Given the description of an element on the screen output the (x, y) to click on. 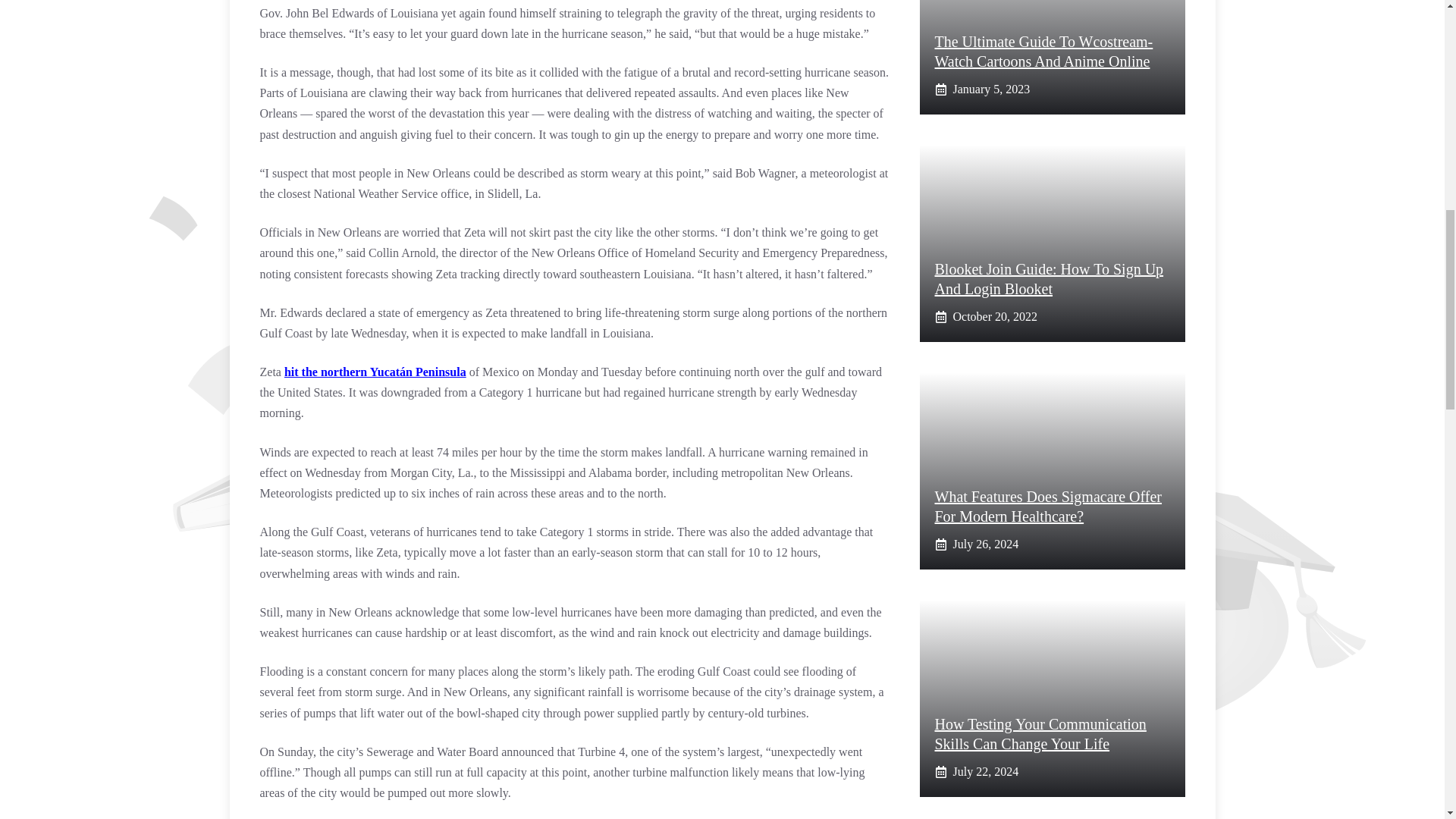
Scroll back to top (1406, 720)
